Given the description of an element on the screen output the (x, y) to click on. 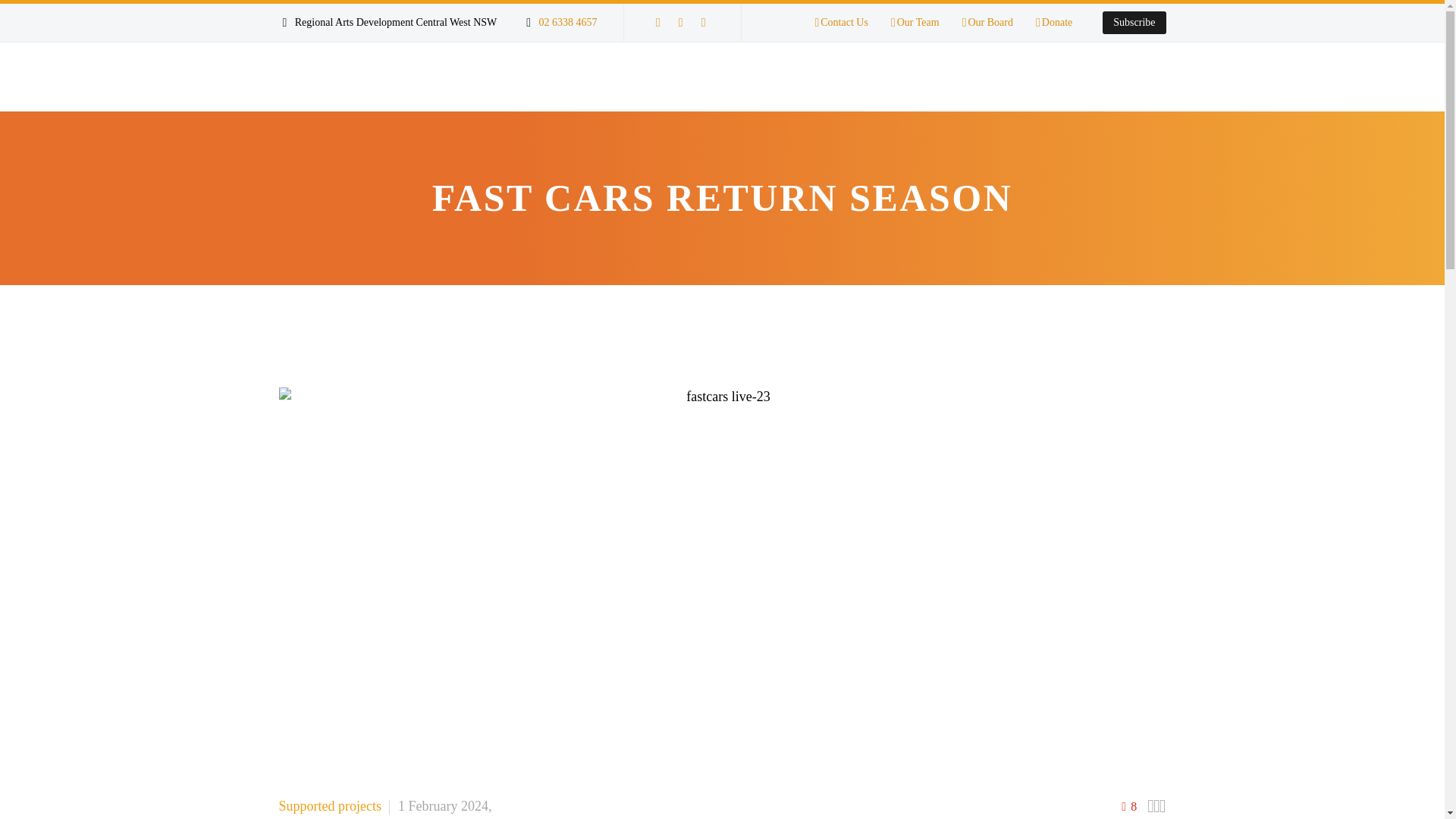
Twitter (681, 22)
Our Board (987, 22)
Instagram (703, 22)
Our Team (915, 22)
Donate (1053, 22)
Subscribe (1134, 22)
Facebook (657, 22)
Contact Us (840, 22)
View all posts in Supported projects (330, 806)
02 6338 4657 (567, 21)
